Given the description of an element on the screen output the (x, y) to click on. 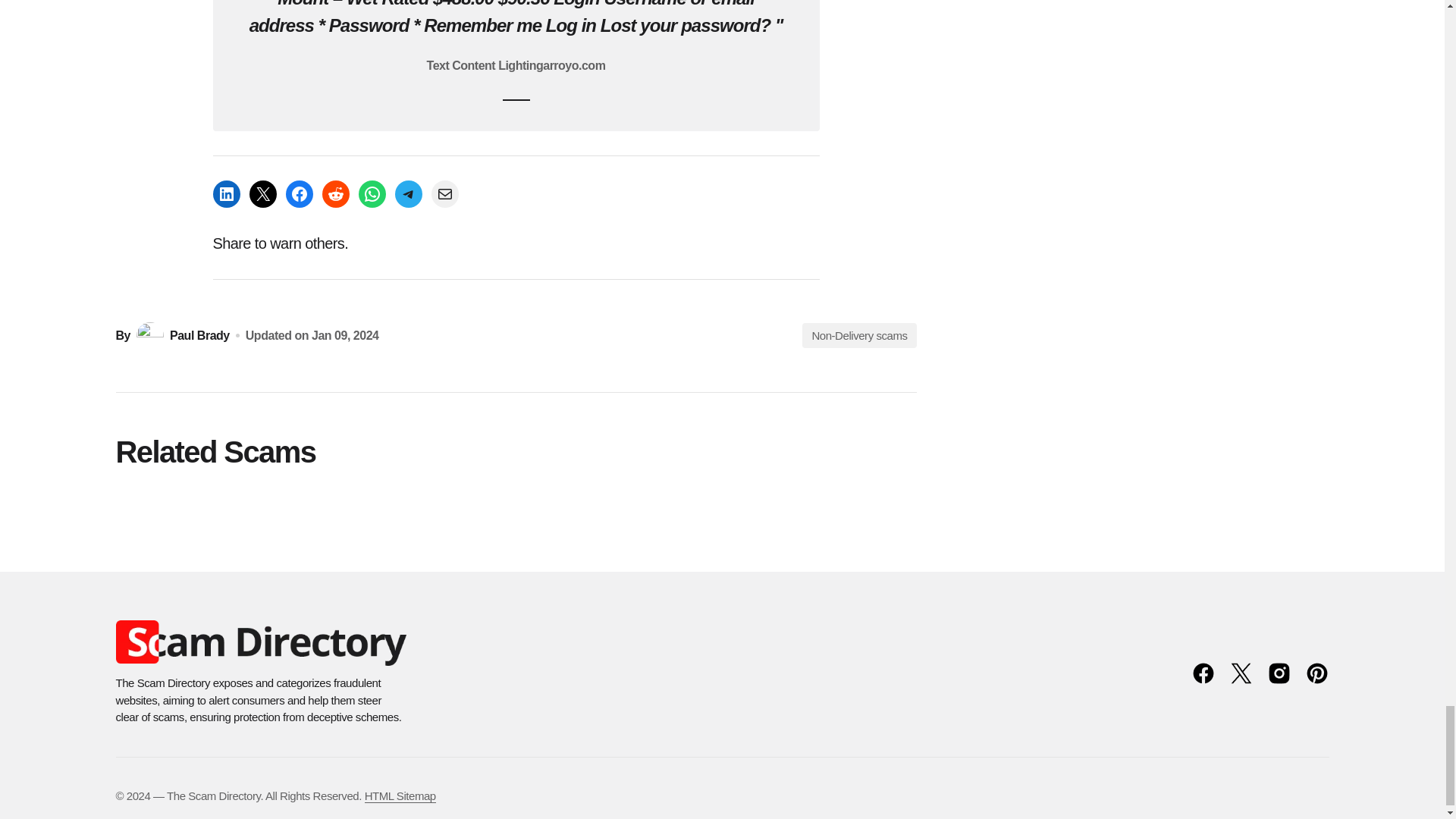
Paul Brady (181, 335)
